Given the description of an element on the screen output the (x, y) to click on. 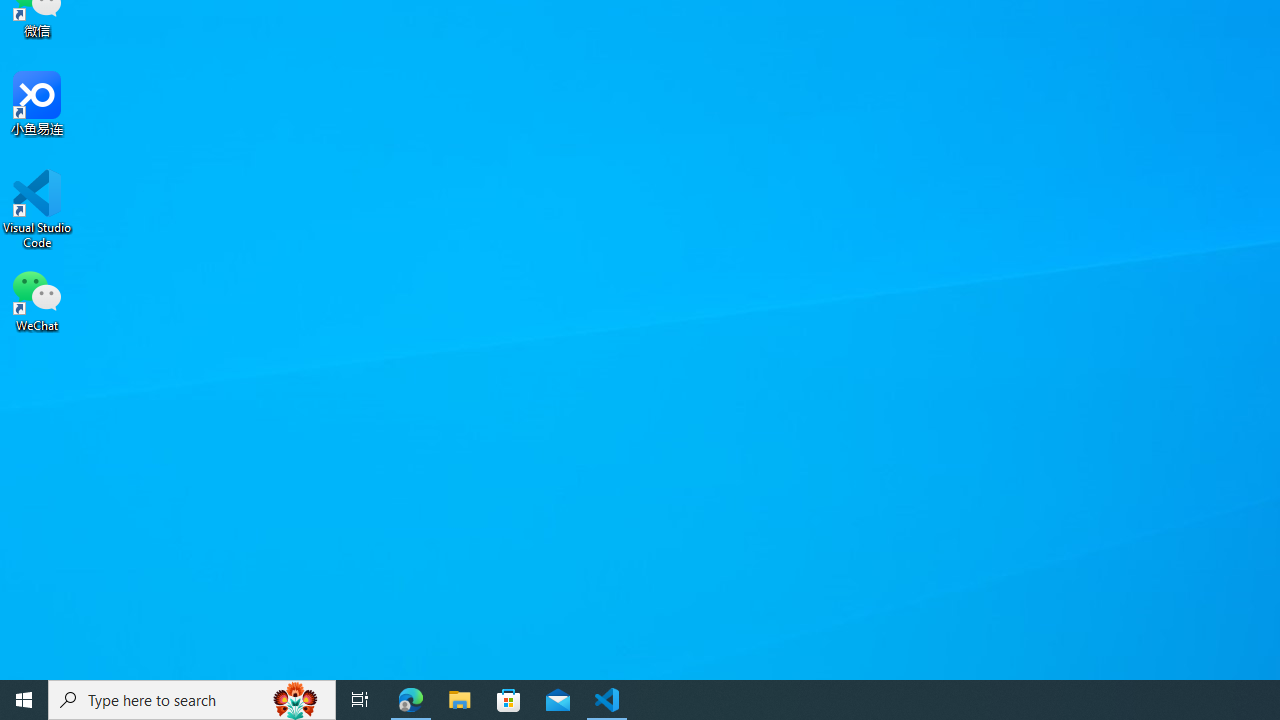
Visual Studio Code (37, 209)
Search highlights icon opens search home window (295, 699)
Microsoft Edge - 1 running window (411, 699)
File Explorer (460, 699)
Microsoft Store (509, 699)
Start (24, 699)
Type here to search (191, 699)
Task View (359, 699)
WeChat (37, 299)
Visual Studio Code - 1 running window (607, 699)
